Given the description of an element on the screen output the (x, y) to click on. 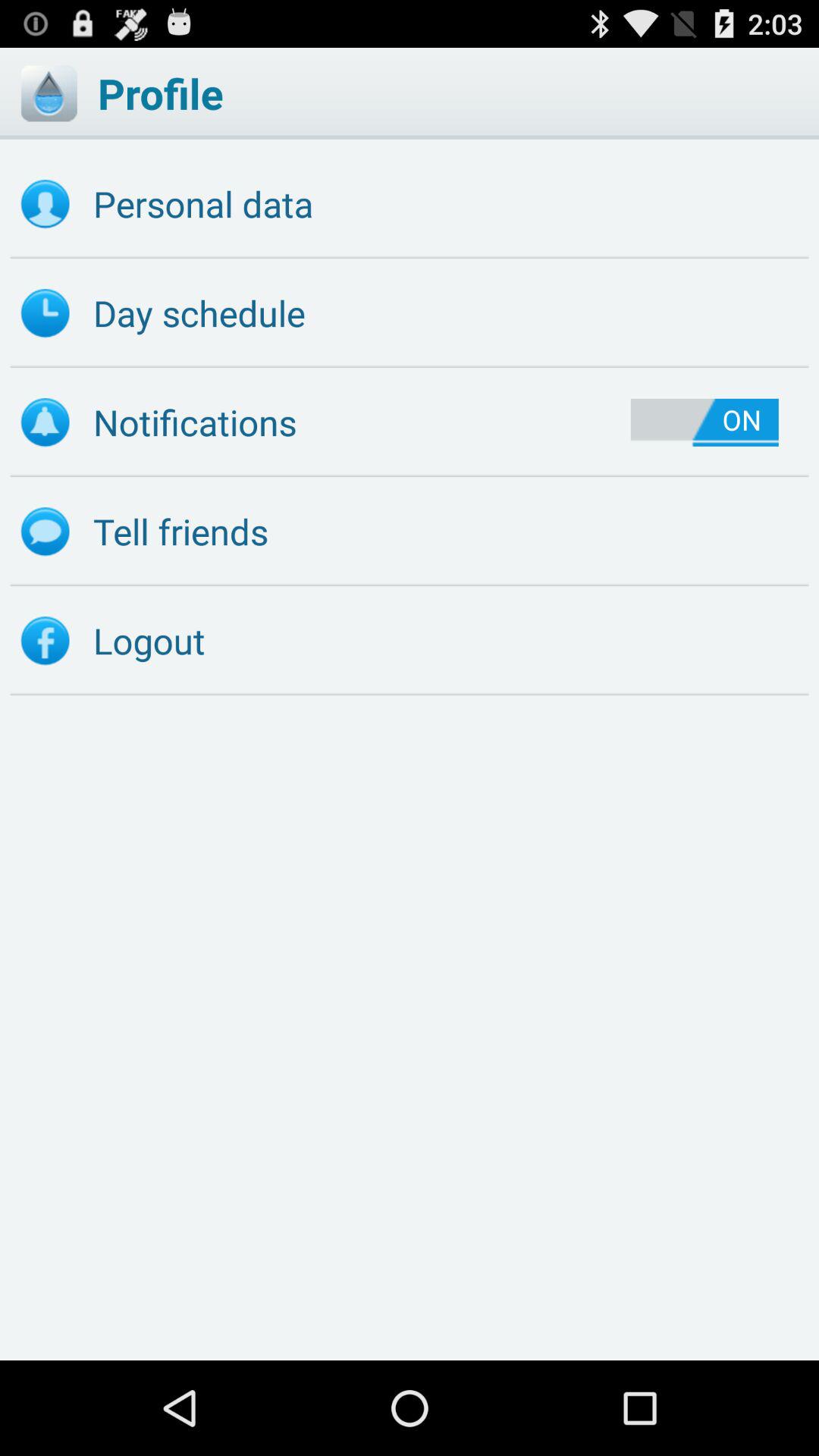
turn off the personal data item (409, 203)
